Given the description of an element on the screen output the (x, y) to click on. 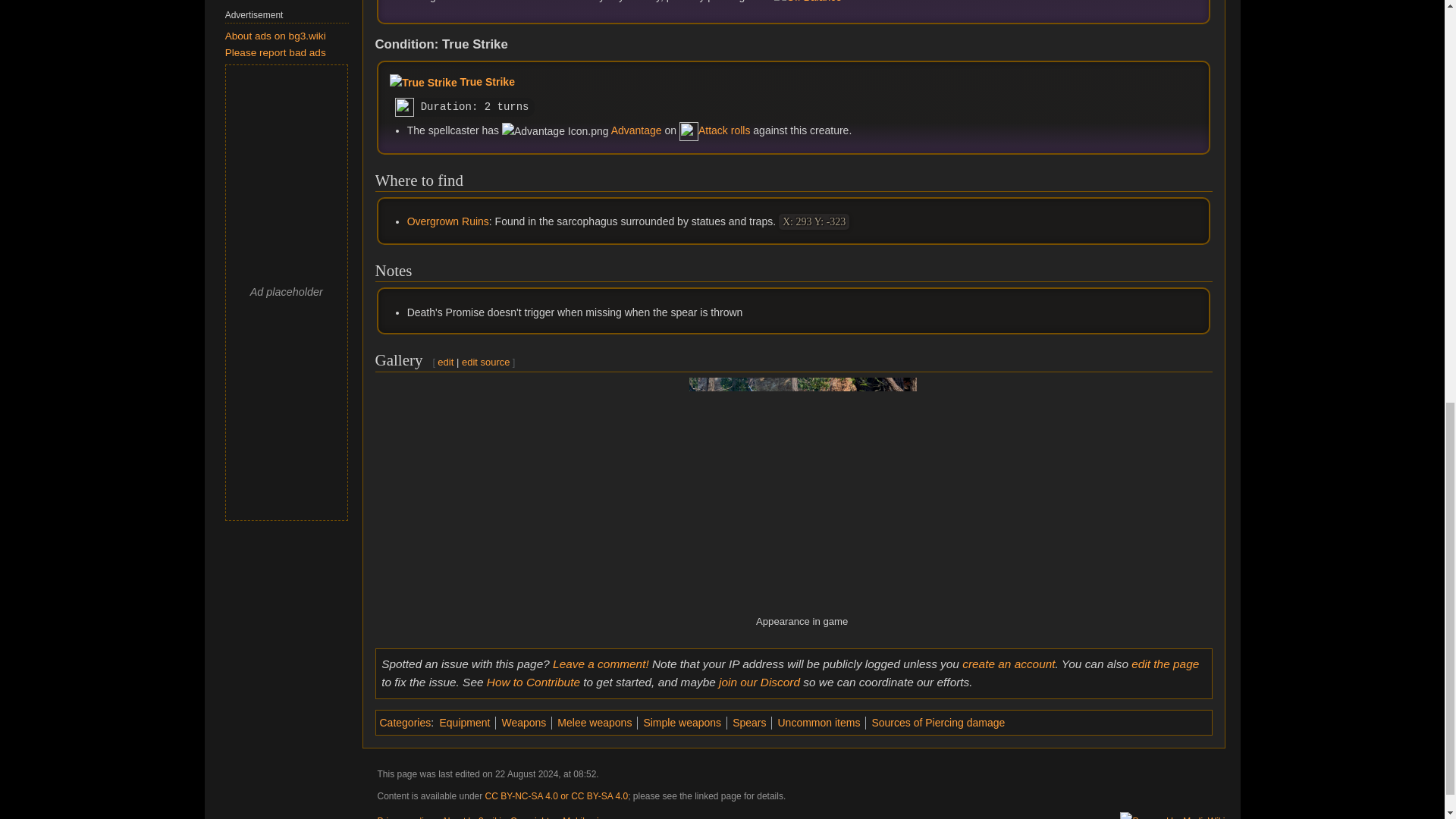
Attack rolls (723, 130)
Leave a comment! (601, 663)
True Strike (487, 81)
edit source (486, 361)
Advantage (636, 130)
How to Contribute (532, 681)
Overgrown Ruins (448, 221)
join our Discord (759, 681)
edit (445, 361)
Off Balance (871, 1)
